Given the description of an element on the screen output the (x, y) to click on. 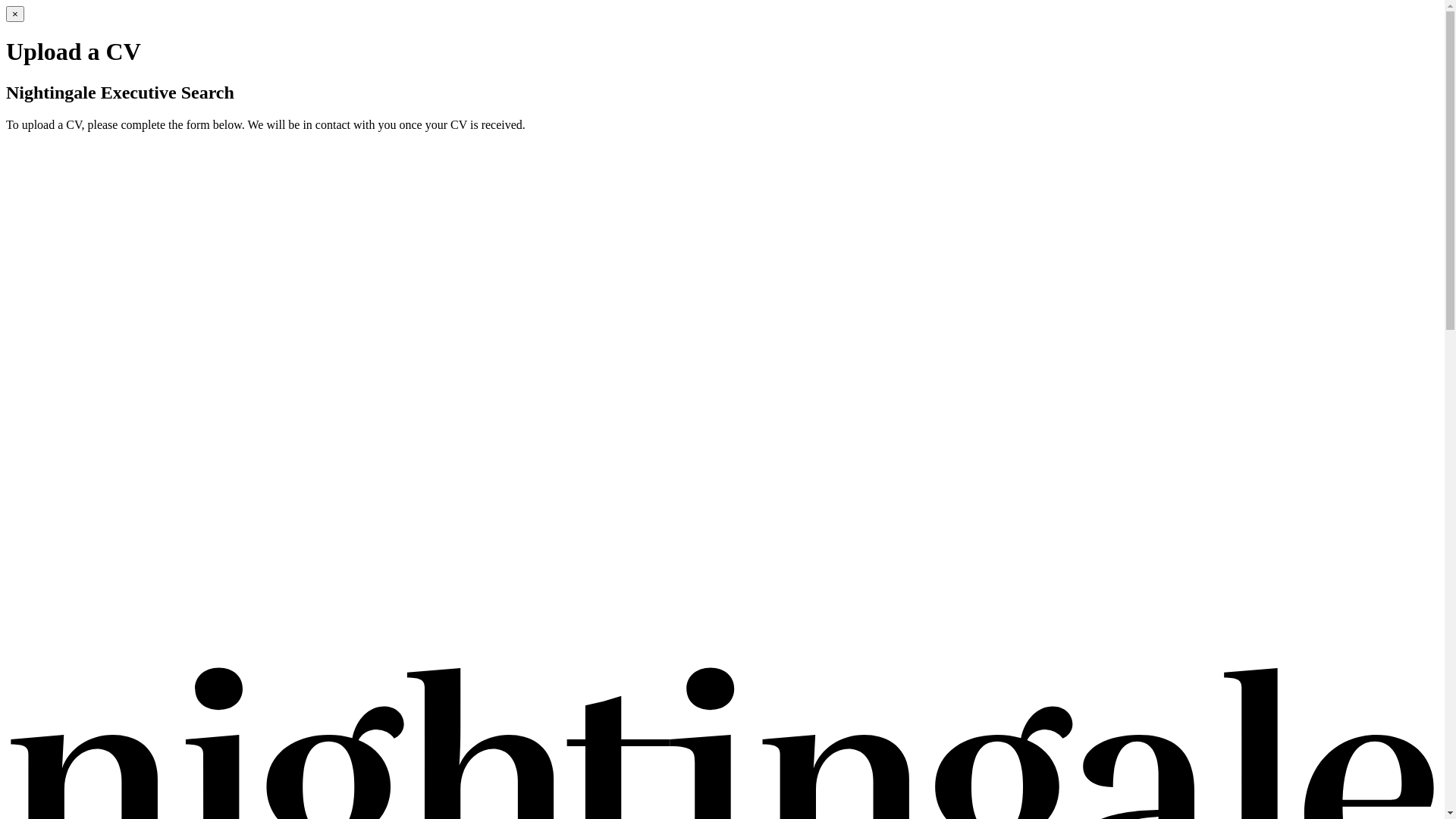
Nightingale Advisors CV Upload Form Element type: hover (722, 401)
